Given the description of an element on the screen output the (x, y) to click on. 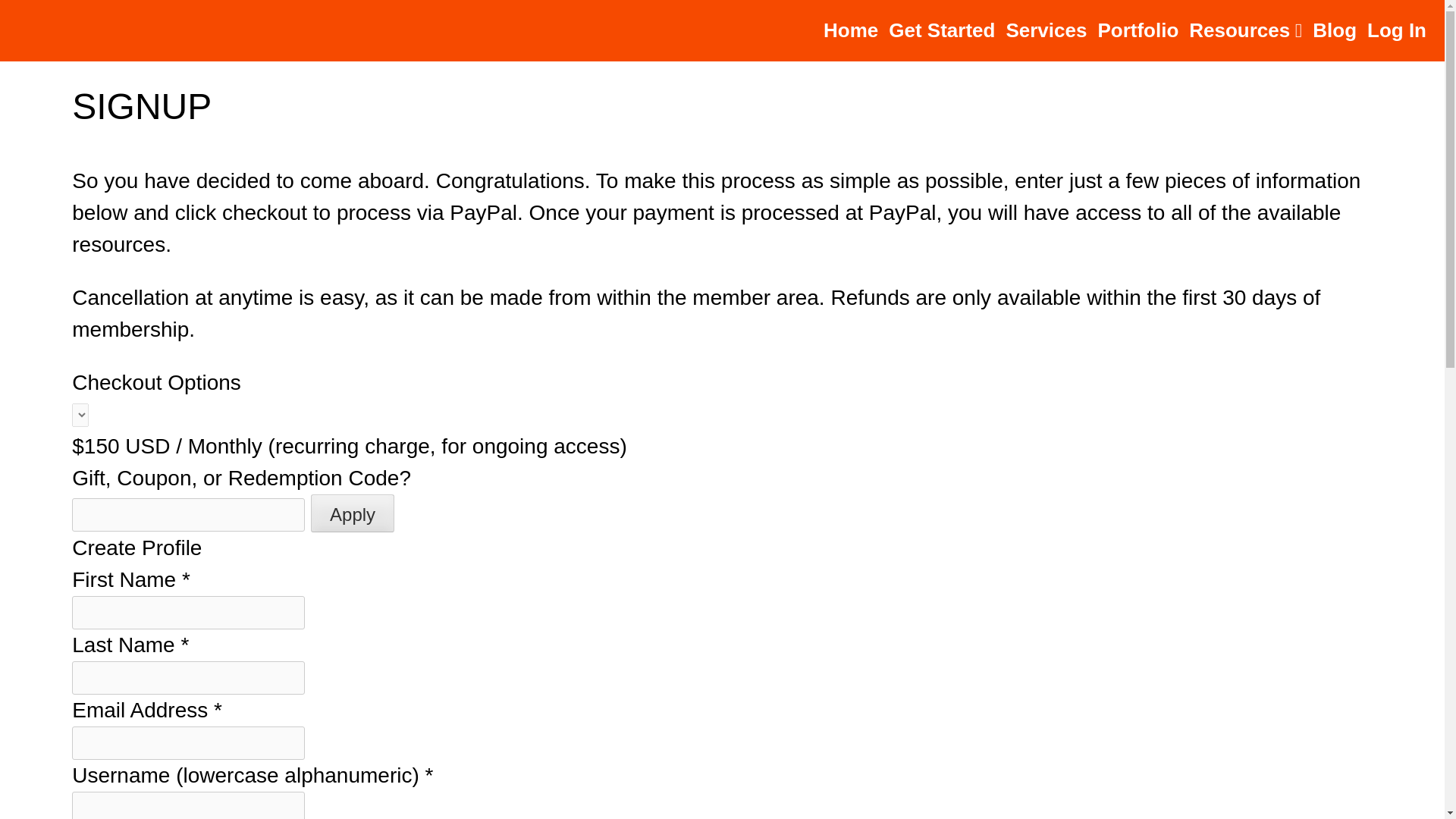
Blog (1334, 30)
I Do Web Work Logo (180, 30)
Log In (1396, 30)
Resources (1245, 30)
Get Started (941, 30)
Portfolio (1137, 30)
Services (1046, 30)
Home (850, 30)
Apply (352, 513)
